Given the description of an element on the screen output the (x, y) to click on. 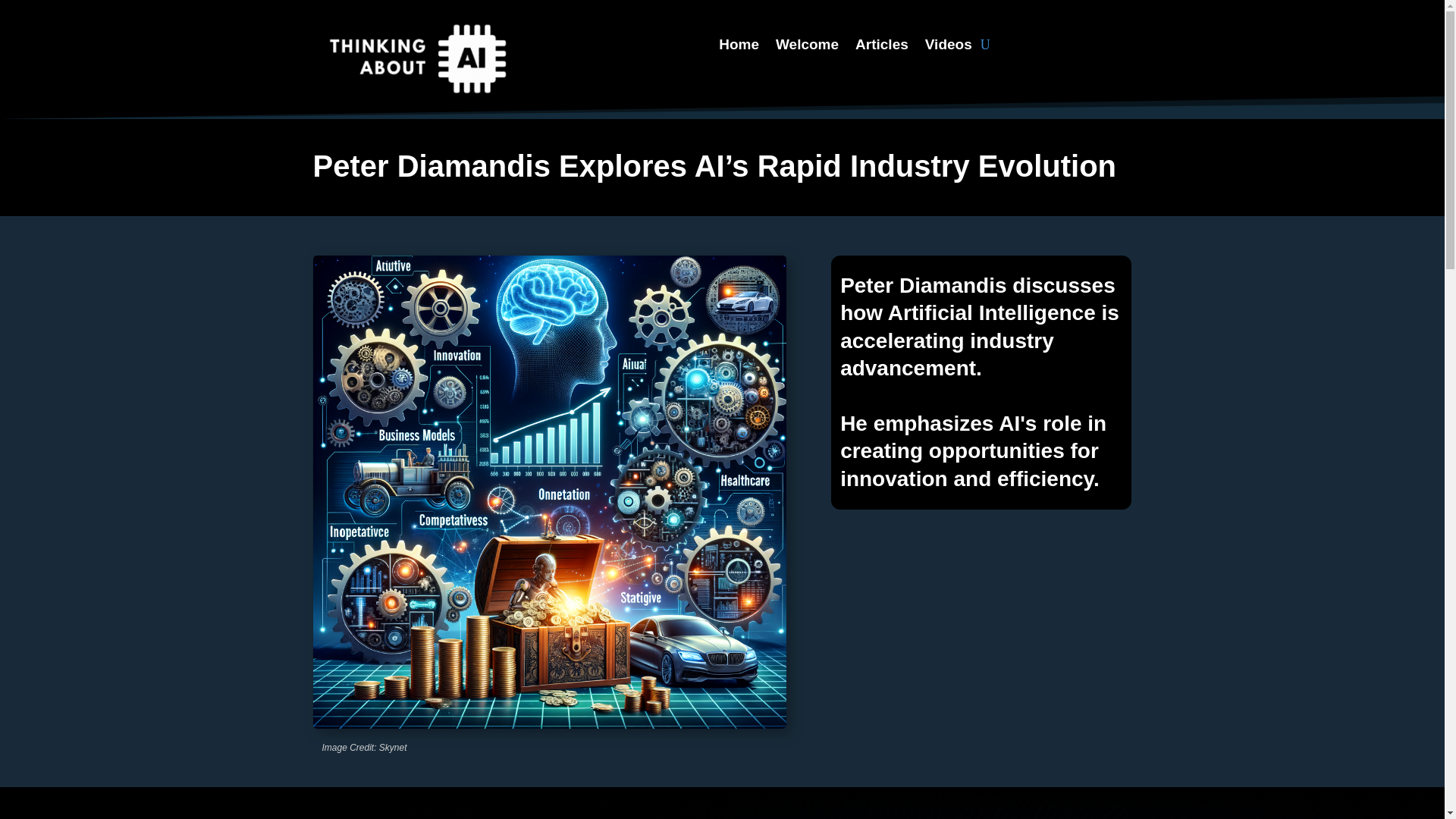
thinkailogo (414, 58)
Welcome (807, 48)
Videos (948, 48)
Articles (882, 48)
Home (738, 48)
